Given the description of an element on the screen output the (x, y) to click on. 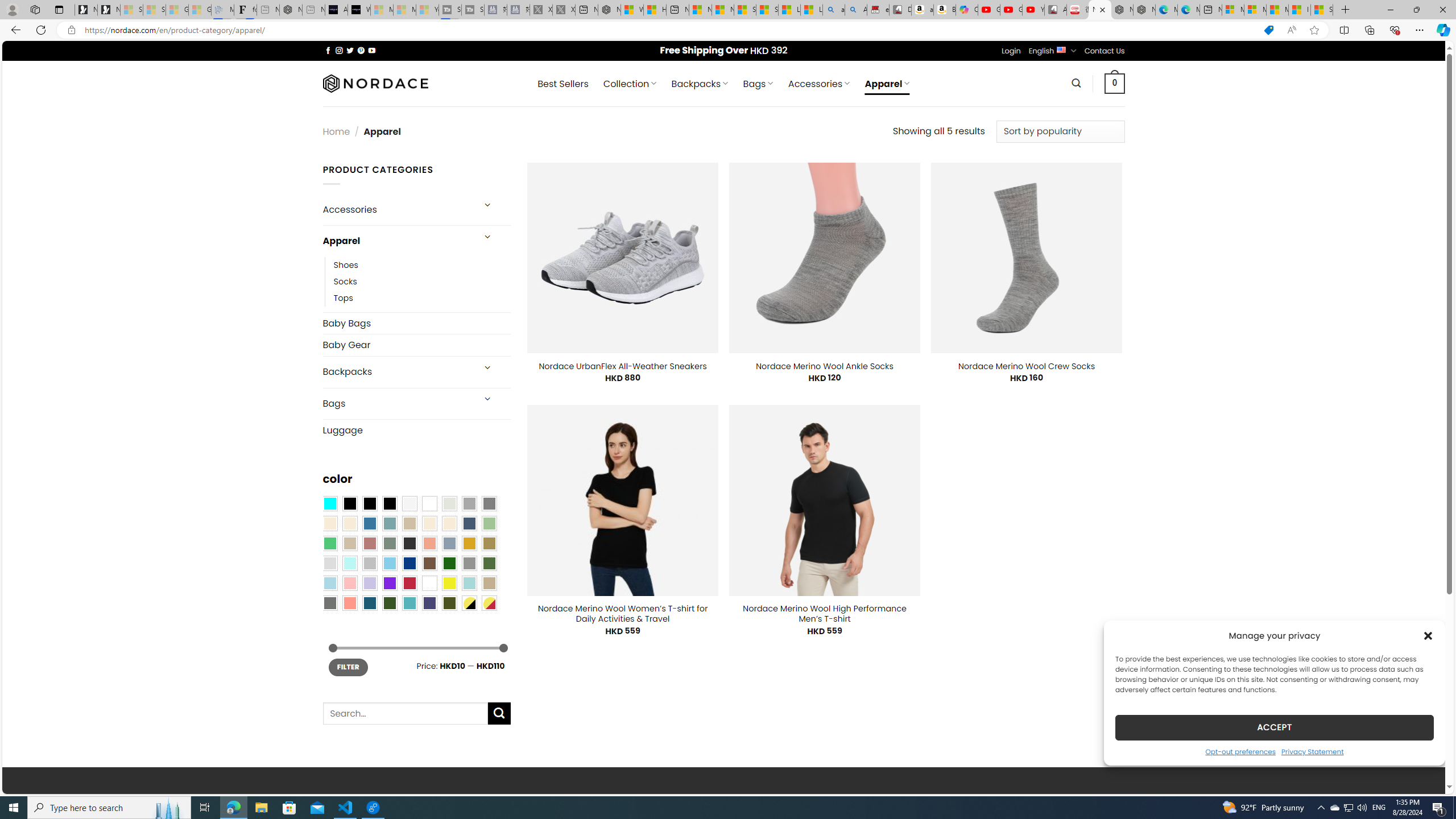
Brown (429, 562)
All Black (349, 503)
Purple (389, 582)
